Given the description of an element on the screen output the (x, y) to click on. 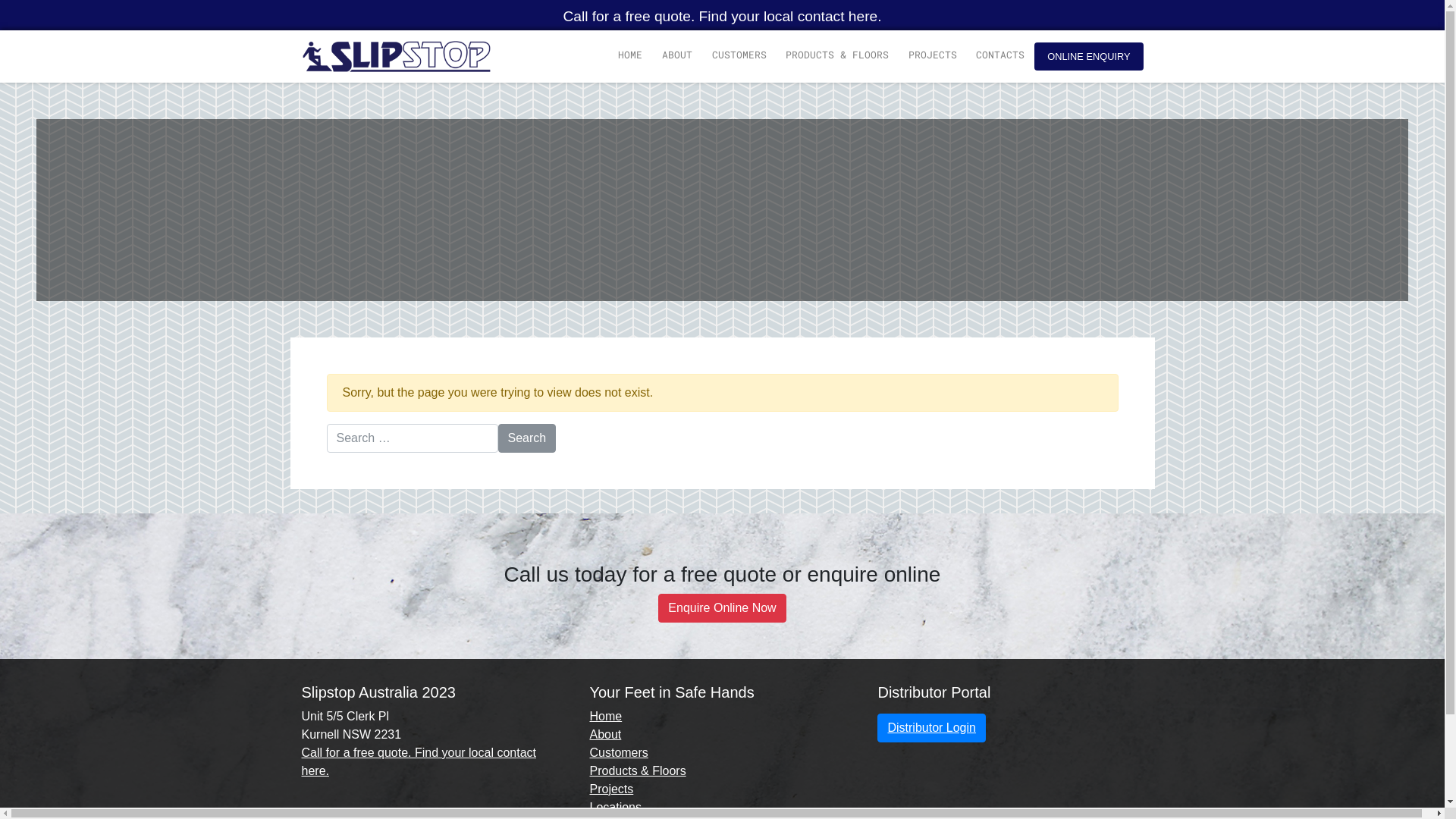
Distributor Login Element type: text (931, 727)
HOME Element type: text (629, 54)
Call for a free quote. Find your local contact here. Element type: text (418, 761)
ABOUT Element type: text (676, 54)
PROJECTS Element type: text (932, 54)
Call for a free quote. Find your local contact here. Element type: text (721, 16)
Locations Element type: text (615, 806)
Products & Floors Element type: text (637, 770)
ONLINE ENQUIRY Element type: text (1088, 56)
Customers Element type: text (618, 752)
Enquire Online Now Element type: text (721, 607)
CUSTOMERS Element type: text (739, 54)
Home Element type: text (605, 715)
Projects Element type: text (611, 788)
PRODUCTS & FLOORS Element type: text (836, 54)
About Element type: text (605, 734)
Search Element type: text (526, 437)
CONTACTS Element type: text (999, 54)
